Given the description of an element on the screen output the (x, y) to click on. 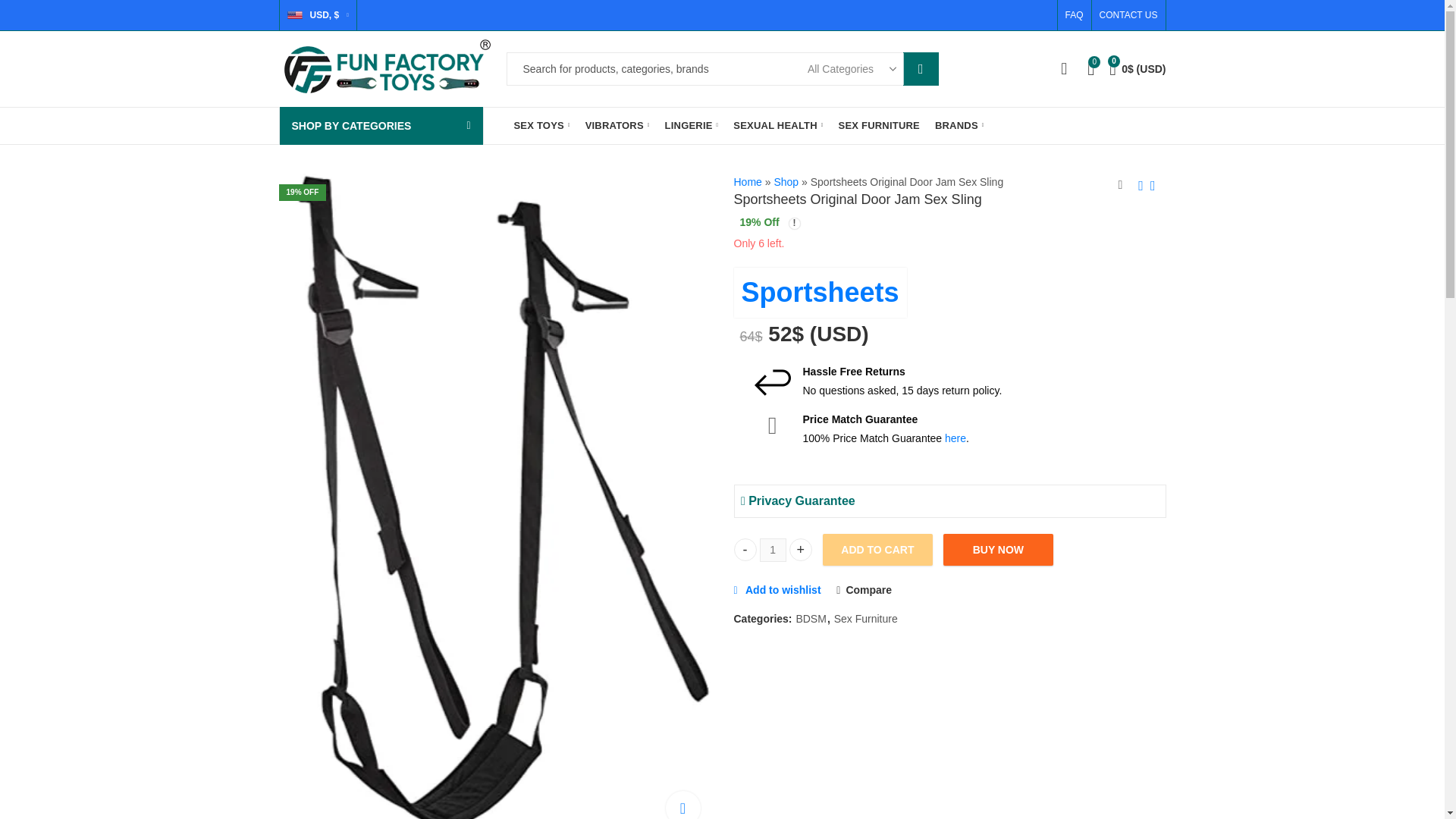
CONTACT US (1124, 15)
- (745, 549)
SEX TOYS (542, 125)
SEARCH (920, 68)
1 (773, 549)
